Given the description of an element on the screen output the (x, y) to click on. 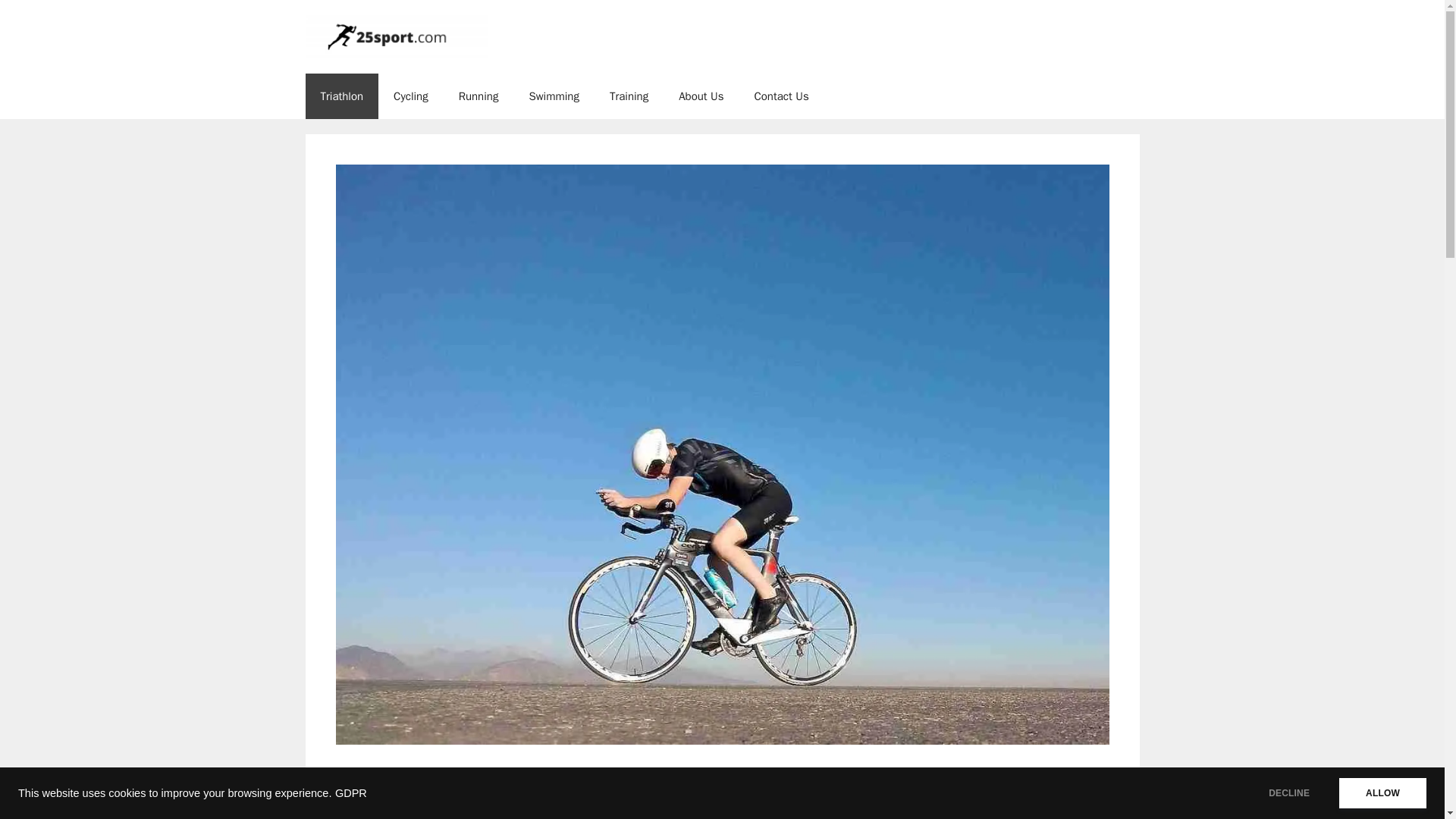
Training (628, 95)
Cycling (411, 95)
Contact Us (781, 95)
DECLINE (1288, 793)
GDPR (350, 793)
Swimming (553, 95)
Running (478, 95)
ALLOW (1382, 793)
Triathlon (341, 95)
About Us (700, 95)
